Given the description of an element on the screen output the (x, y) to click on. 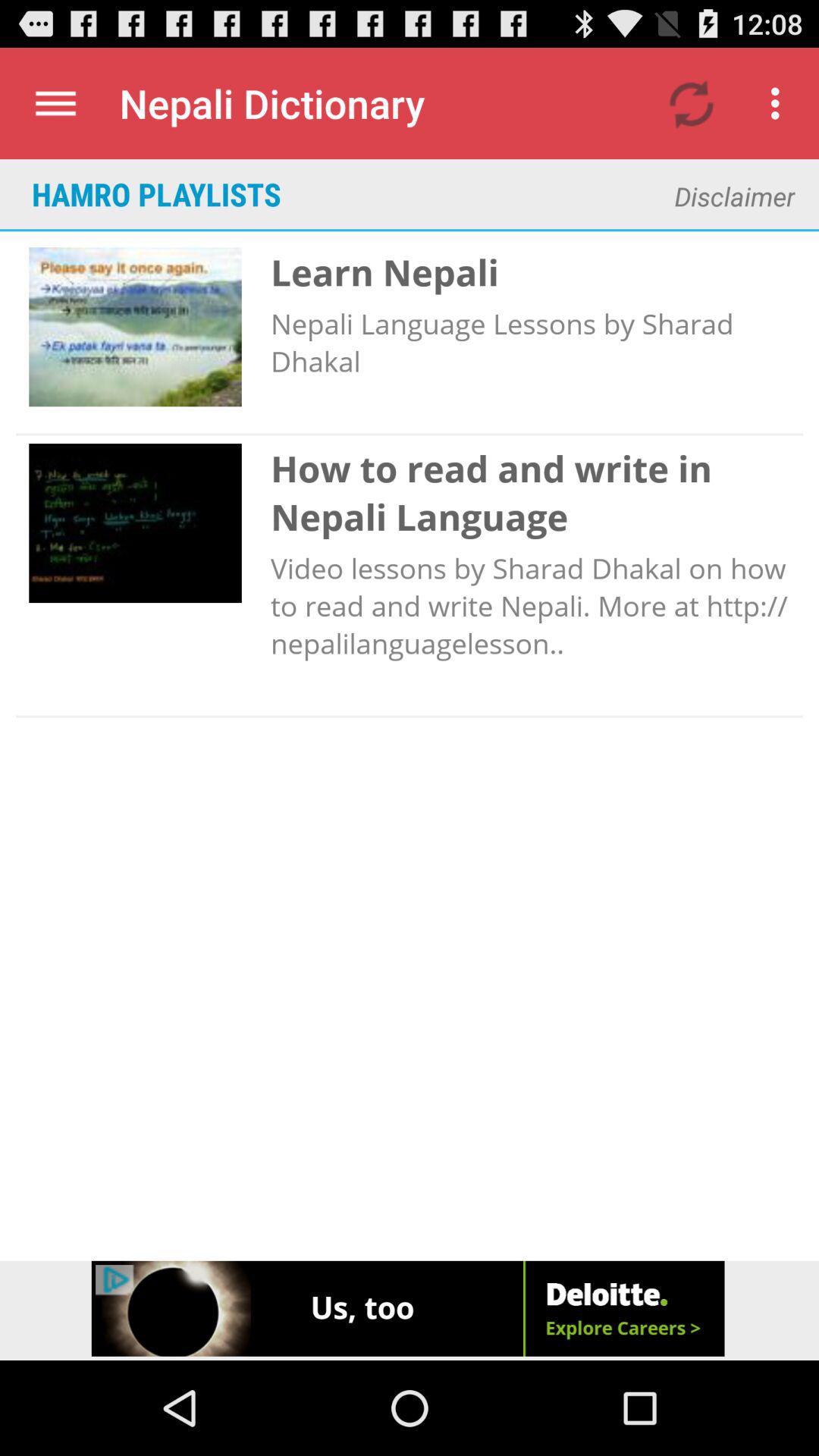
advertisement (409, 1310)
